Given the description of an element on the screen output the (x, y) to click on. 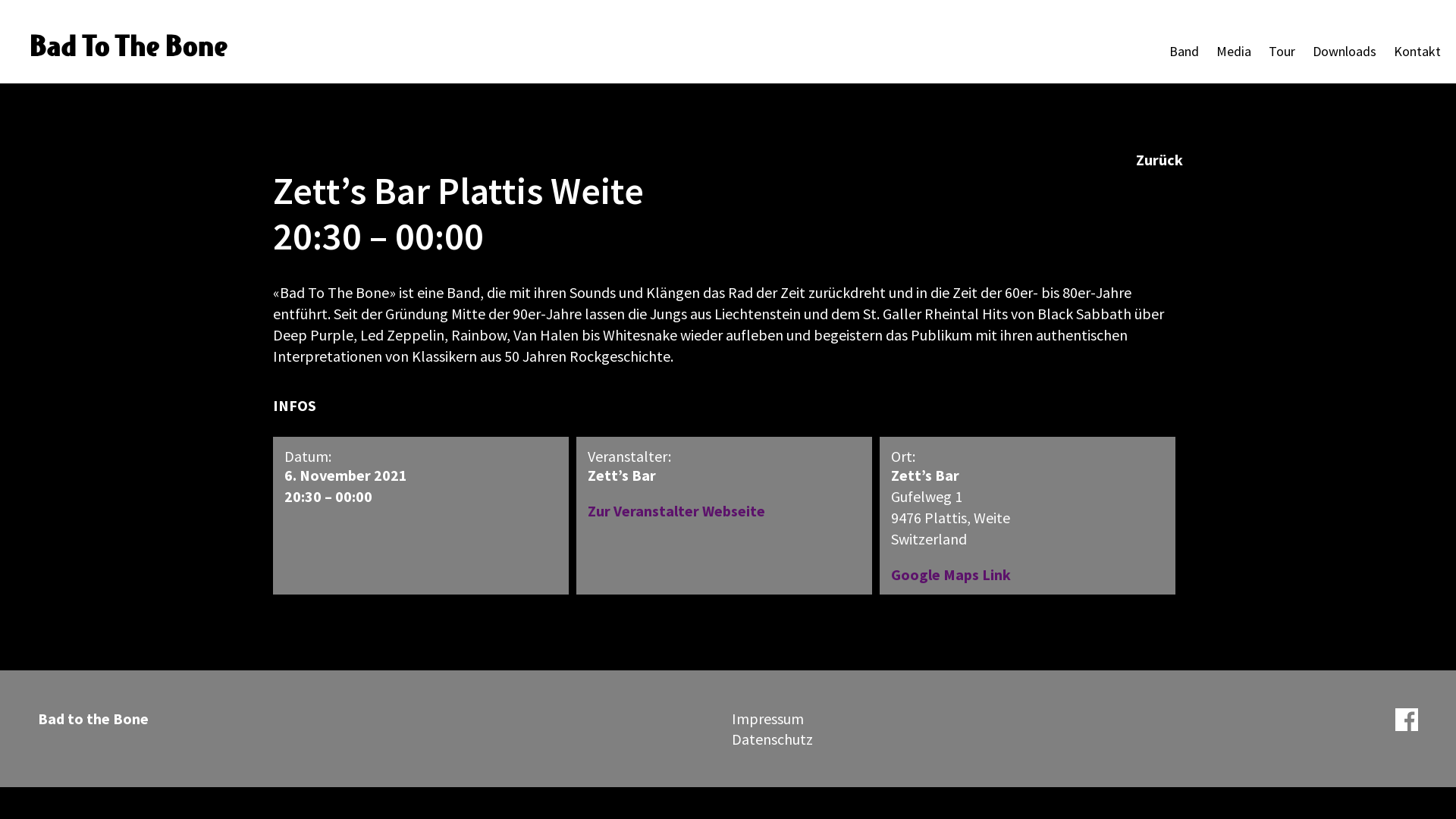
Kontakt Element type: text (1416, 51)
Datenschutz Element type: text (771, 738)
Media Element type: text (1233, 51)
Google Maps Link Element type: text (950, 573)
Tour Element type: text (1281, 51)
Impressum Element type: text (767, 718)
Zur Veranstalter Webseite Element type: text (676, 510)
Band Element type: text (1183, 51)
Downloads Element type: text (1344, 51)
